Given the description of an element on the screen output the (x, y) to click on. 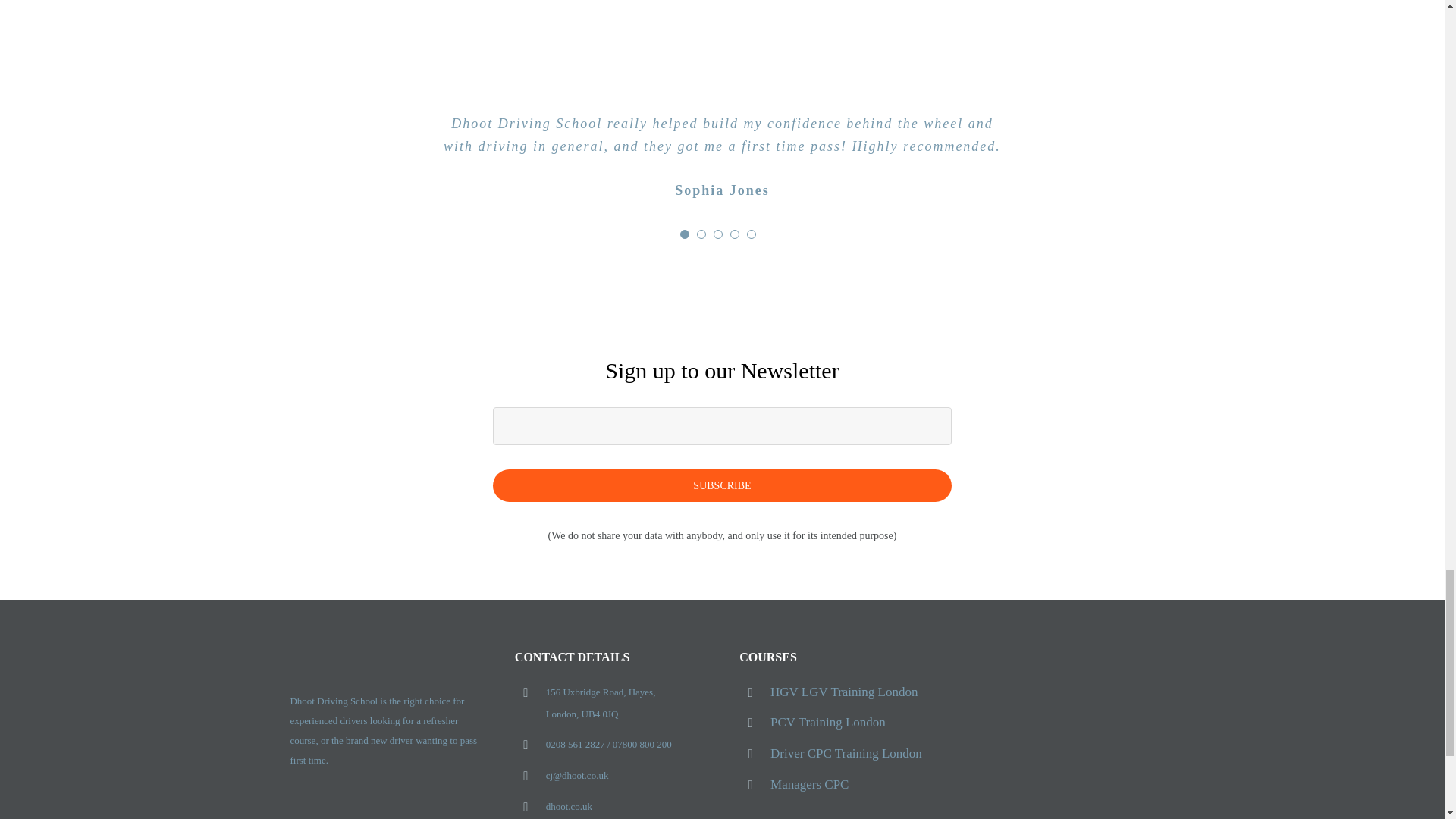
SUBSCRIBE (722, 454)
footer-ad-grid (1058, 735)
